Given the description of an element on the screen output the (x, y) to click on. 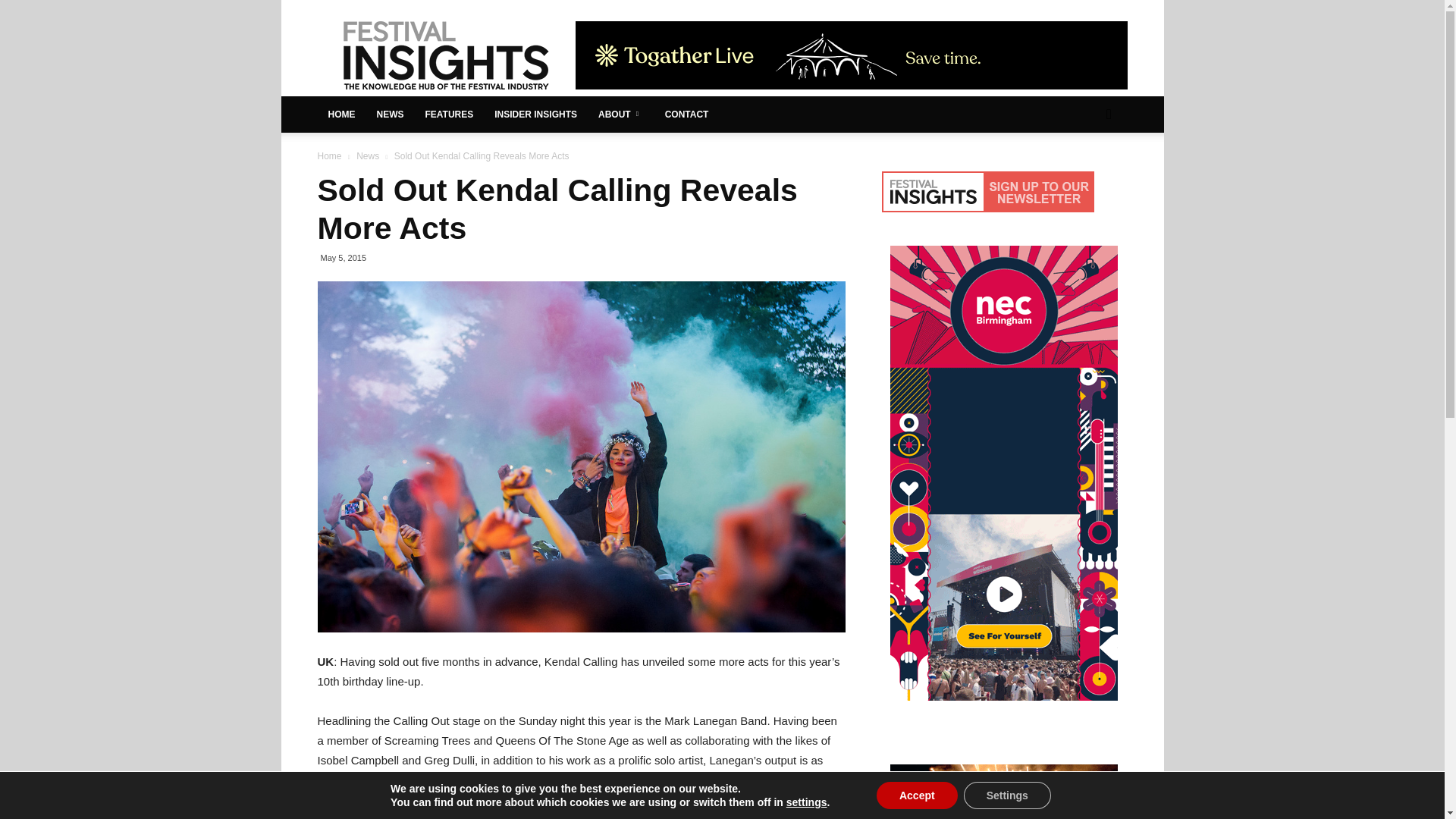
View all posts in News (367, 155)
togather (850, 55)
Home (328, 155)
CONTACT (686, 114)
The Knowledge Hub of the Festival Industry (445, 55)
ABOUT (620, 114)
HOME (341, 114)
INSIDER INSIGHTS (535, 114)
NEWS (389, 114)
News (367, 155)
FEATURES (448, 114)
